Given the description of an element on the screen output the (x, y) to click on. 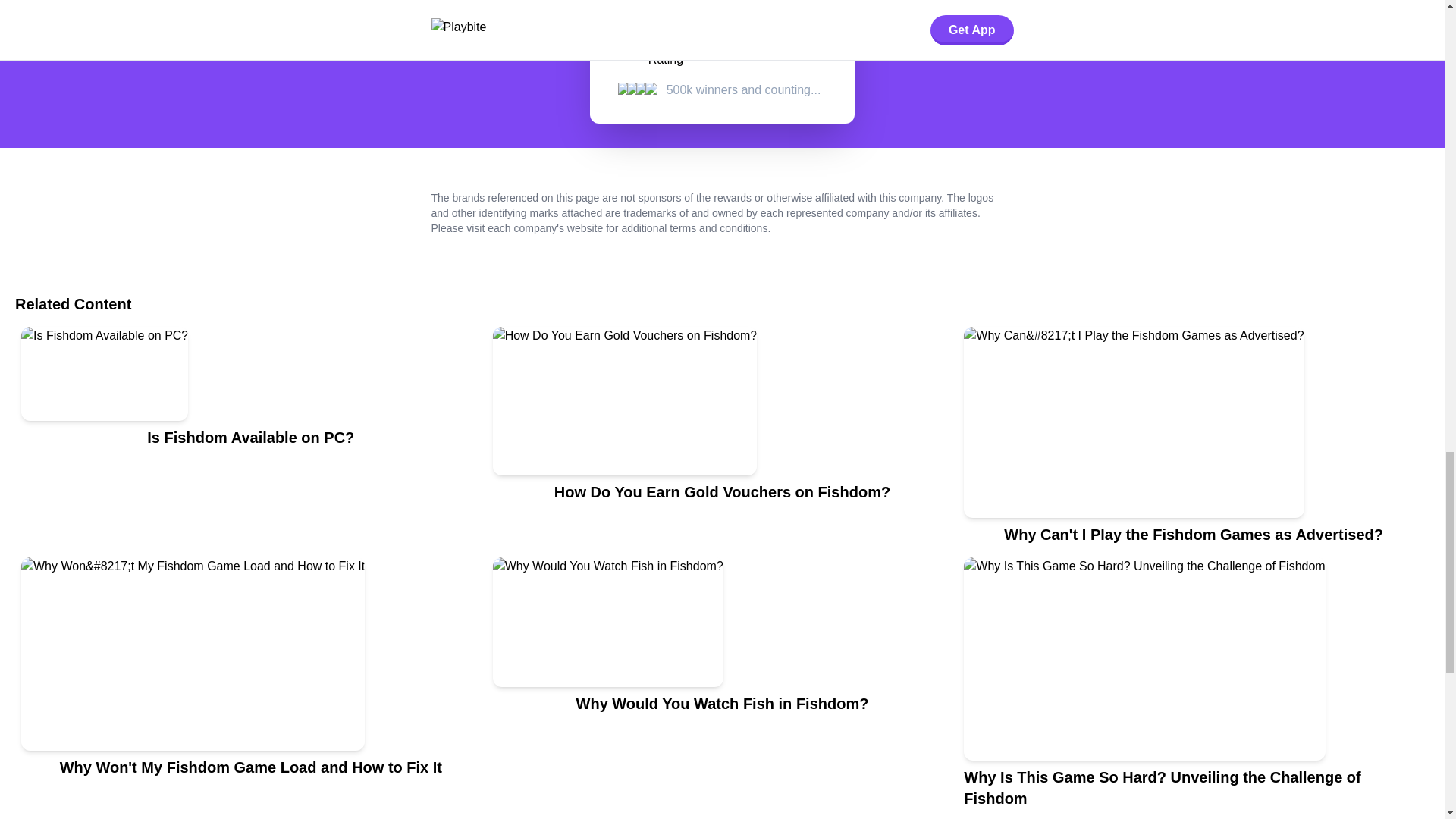
Why Can't I Play the Fishdom Games as Advertised? (1193, 441)
How Do You Earn Gold Vouchers on Fishdom? (722, 441)
Why Won't My Fishdom Game Load and How to Fix It (250, 688)
Is Fishdom Available on PC? (250, 441)
Get App (800, 32)
Get App (800, 31)
Why Would You Watch Fish in Fishdom? (722, 688)
Why Is This Game So Hard? Unveiling the Challenge of Fishdom (1193, 688)
